Given the description of an element on the screen output the (x, y) to click on. 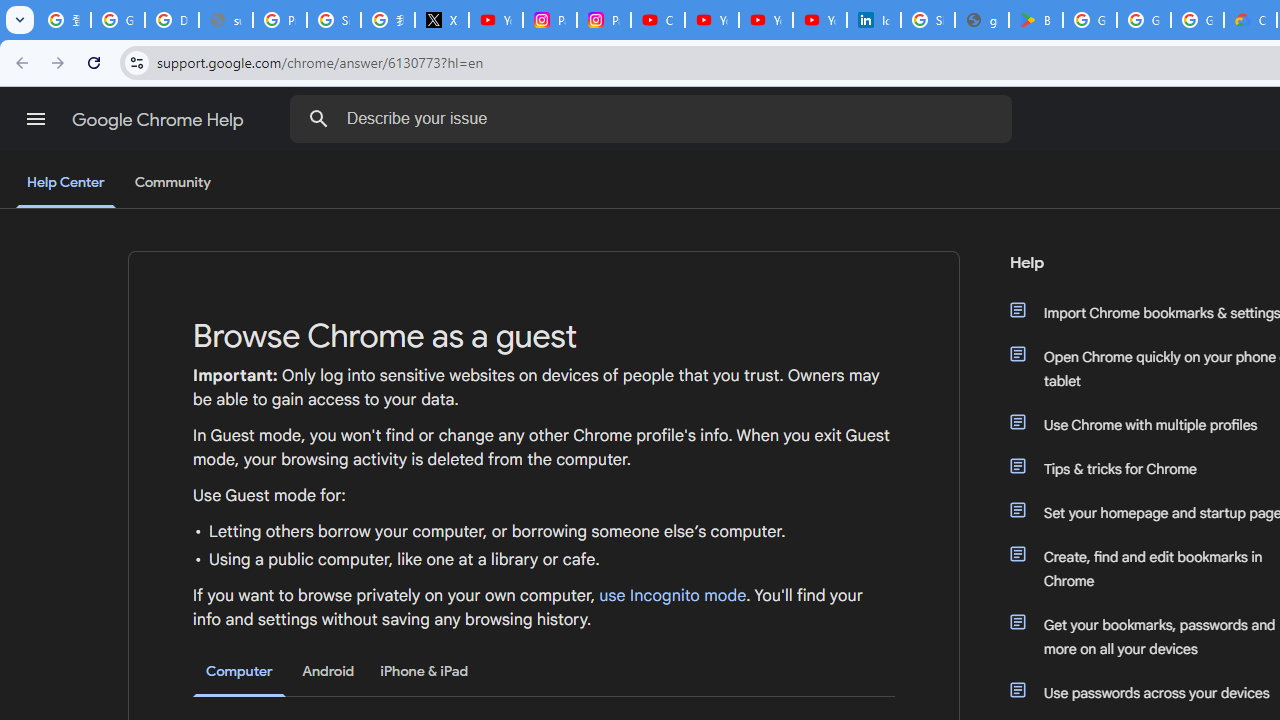
Google Chrome Help (159, 119)
Sign in - Google Accounts (333, 20)
Describe your issue (653, 118)
Privacy Help Center - Policies Help (280, 20)
use Incognito mode (673, 596)
Search Help Center (318, 118)
